Given the description of an element on the screen output the (x, y) to click on. 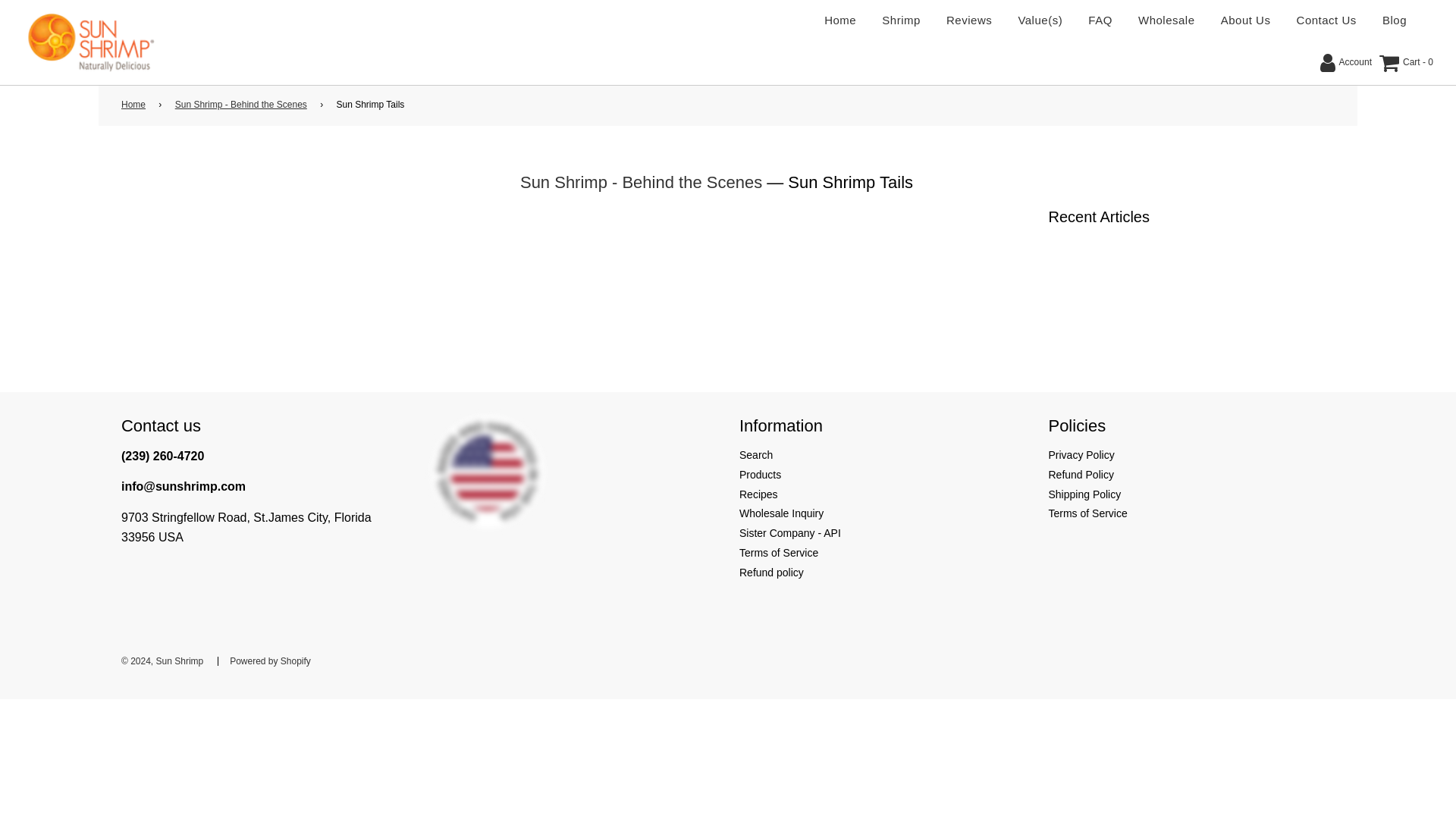
FAQ (1100, 20)
Cart - 0 (1405, 62)
About Us (1245, 20)
Home (135, 104)
Log in (1345, 62)
Reviews (968, 20)
Wholesale (1166, 20)
Contact Us (1326, 20)
Back to the frontpage (135, 104)
Home (839, 20)
Blog (1394, 20)
Account (1345, 62)
Shrimp (900, 20)
